Given the description of an element on the screen output the (x, y) to click on. 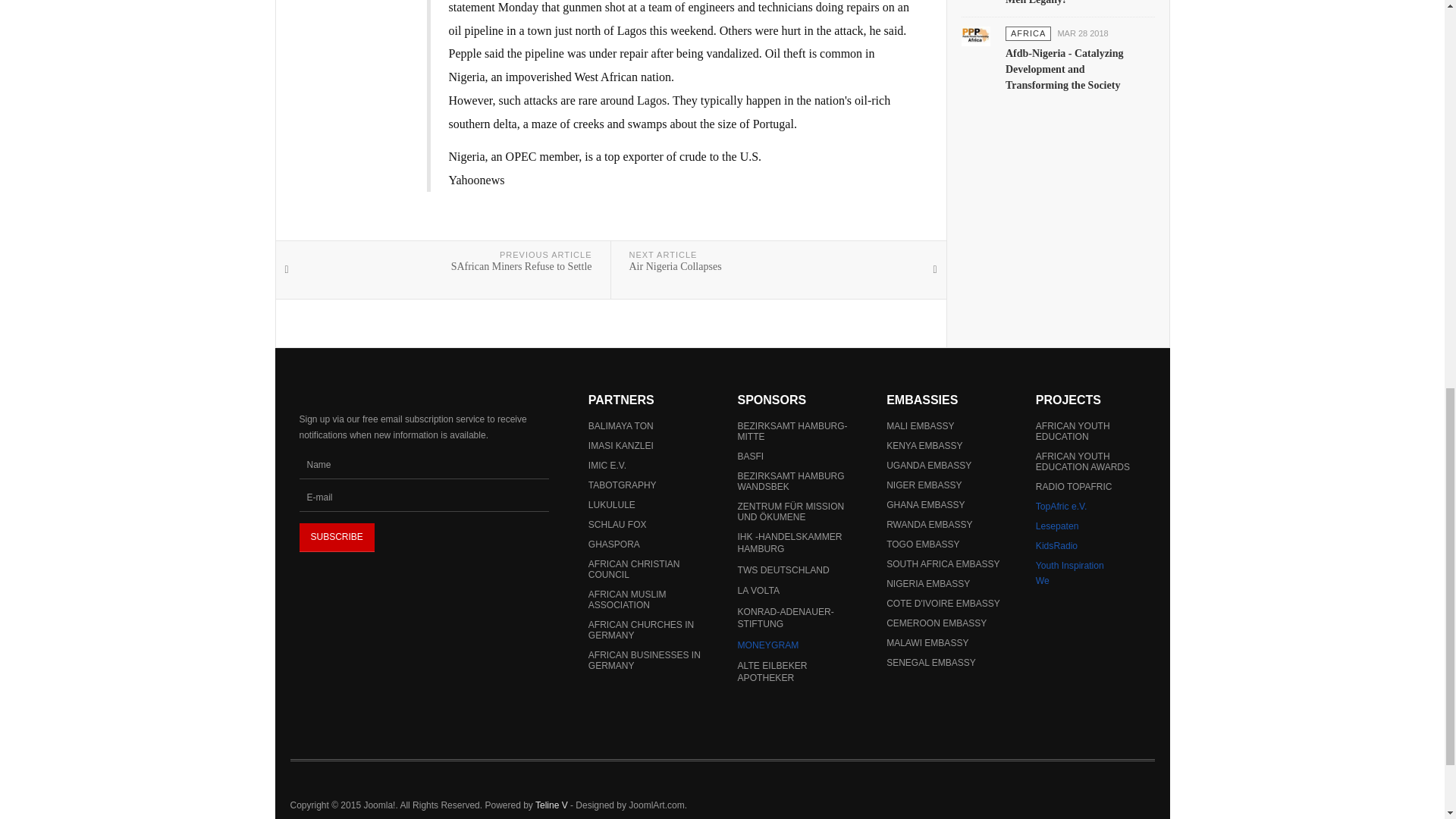
Subscribe (336, 537)
Name (423, 464)
E-mail (423, 497)
